Given the description of an element on the screen output the (x, y) to click on. 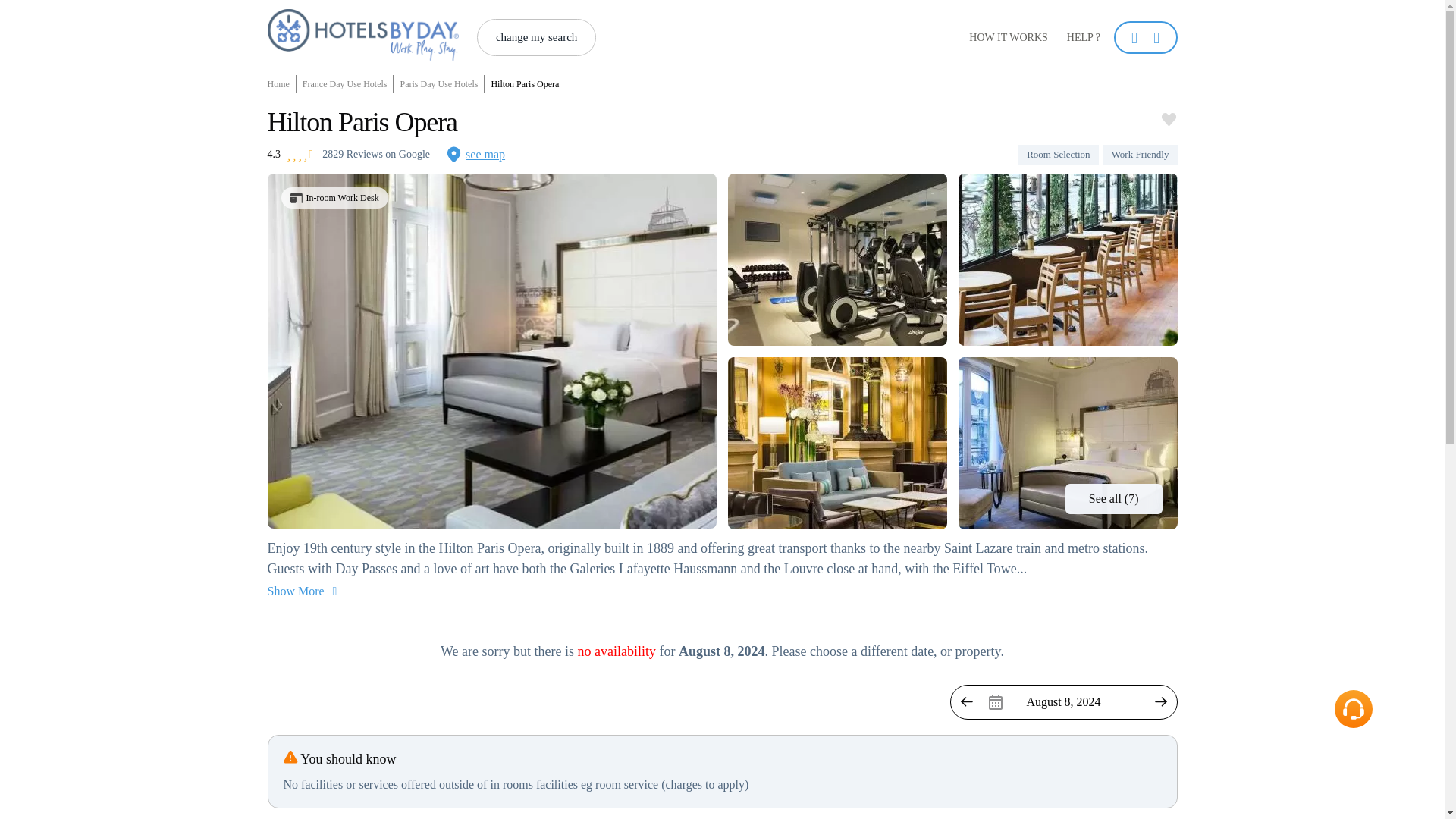
HELP ? (1083, 37)
August 8, 2024 (1062, 701)
HotelsByDay (362, 34)
Paris Day Use Hotels (438, 84)
HOW IT WORKS (1007, 37)
Calendar (1062, 701)
Paris Day Use Hotels (438, 84)
see map (475, 154)
HotelsByDay (362, 56)
Home (280, 84)
Home (280, 84)
change my search (536, 37)
France Day Use Hotels (345, 84)
France Day Use Hotels (345, 84)
